Given the description of an element on the screen output the (x, y) to click on. 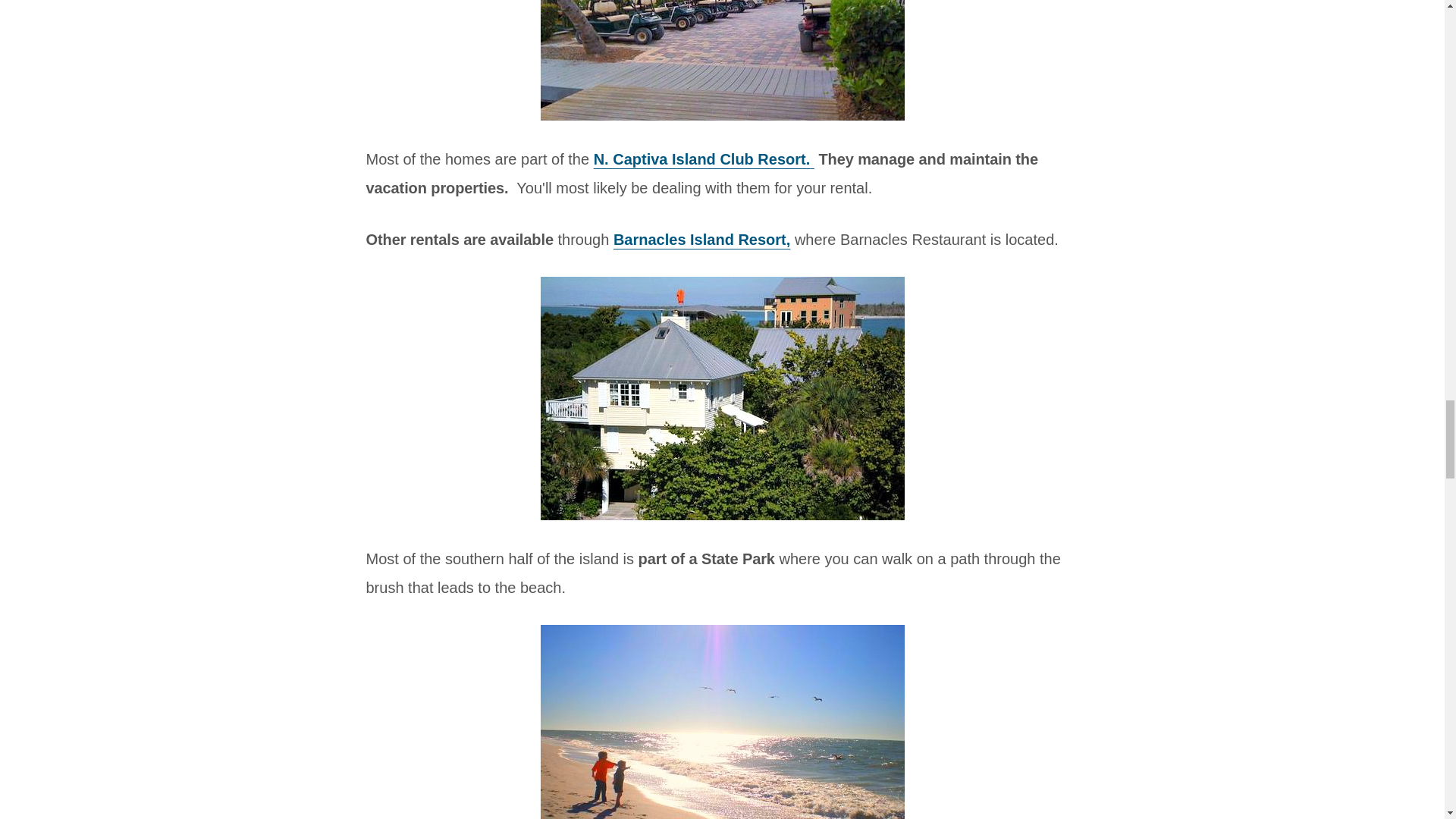
north captiva club (722, 59)
north captiva island real estate (722, 397)
north captiva island (722, 721)
